Given the description of an element on the screen output the (x, y) to click on. 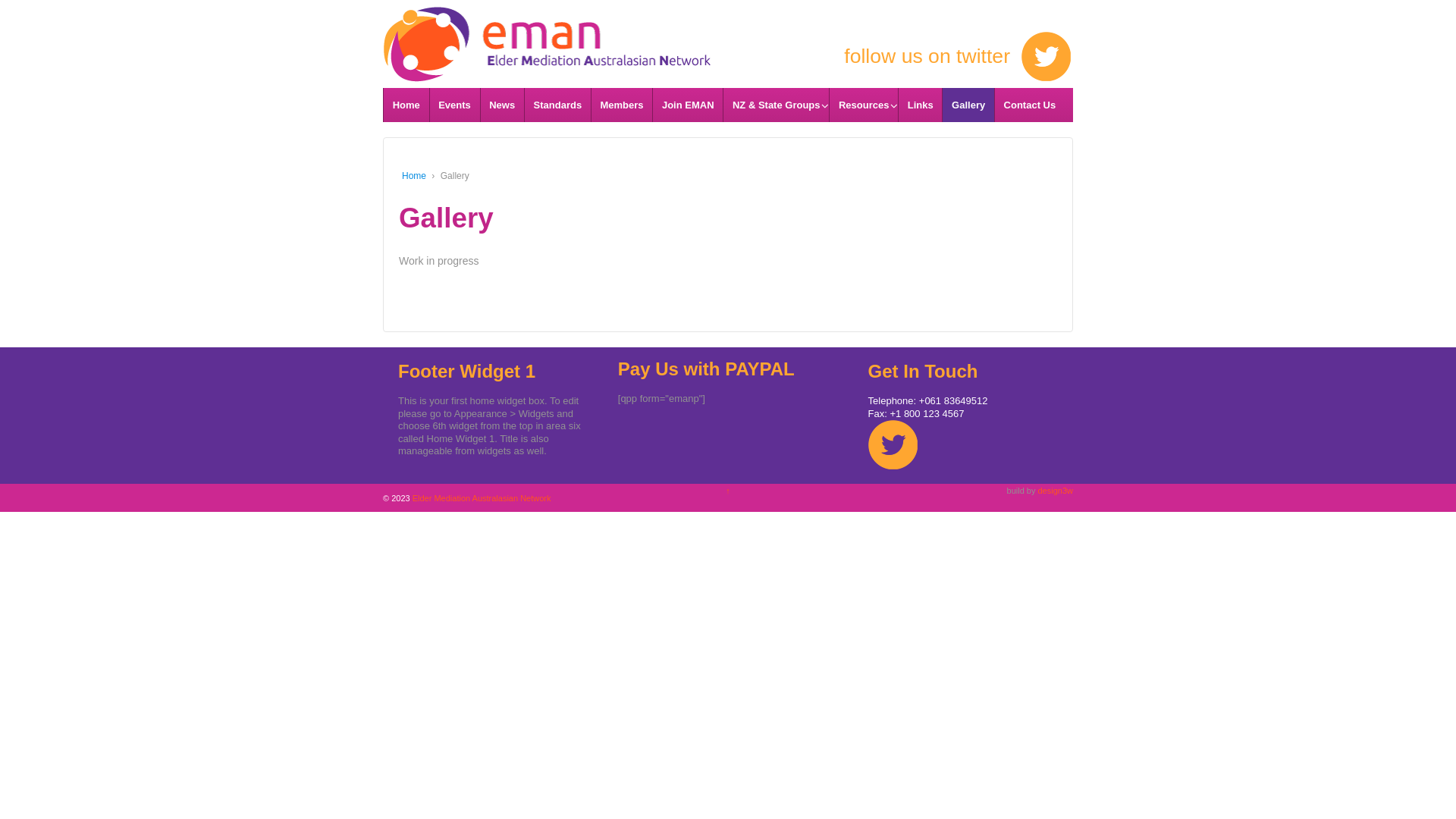
Links Element type: text (919, 104)
Members Element type: text (621, 104)
News Element type: text (502, 104)
follow us on twitter Element type: text (916, 56)
Standards Element type: text (557, 104)
Home Element type: text (406, 104)
Elder Mediation Australasian Network Element type: text (480, 497)
Contact Us Element type: text (1029, 104)
NZ & State Groups Element type: text (775, 104)
Events Element type: text (454, 104)
Gallery Element type: text (967, 104)
Elder Mediation Australasian Network Element type: text (546, 32)
Join EMAN Element type: text (687, 104)
follow us on twitter Element type: text (892, 444)
Home Element type: text (413, 175)
design3w Element type: text (1054, 490)
Resources Element type: text (862, 104)
